Given the description of an element on the screen output the (x, y) to click on. 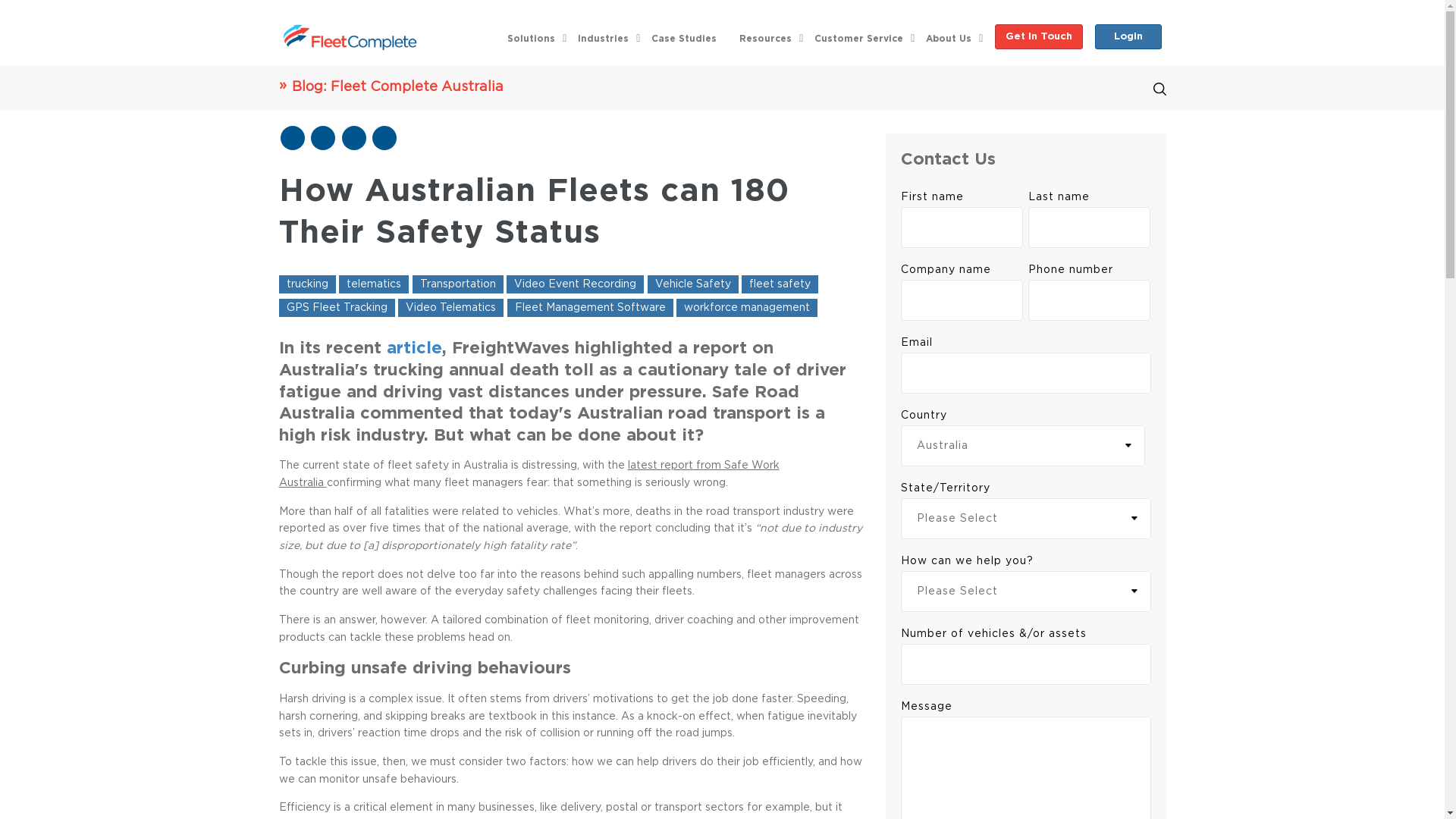
Case Studies Element type: text (684, 34)
article Element type: text (414, 347)
latest report from Safe Work Australia  Element type: text (529, 474)
Video Event Recording Element type: text (574, 284)
Video Telematics Element type: text (450, 307)
Customer Service Element type: text (858, 34)
fleet safety Element type: text (779, 284)
GPS Fleet Tracking Element type: text (337, 307)
workforce management Element type: text (746, 307)
Transportation Element type: text (457, 284)
Resources Element type: text (765, 34)
Solutions Element type: text (530, 34)
Industries Element type: text (603, 34)
trucking Element type: text (307, 284)
telematics Element type: text (373, 284)
Fleet Management Software Element type: text (589, 307)
FC-Logo-nogradients-no-tails-without-copyr-2 Element type: hover (350, 36)
Get In Touch Element type: text (1038, 36)
Australian road transport is a high risk industry Element type: text (552, 423)
Vehicle Safety Element type: text (692, 284)
About Us Element type: text (948, 34)
Login Element type: text (1128, 36)
Blog: Fleet Complete Australia Element type: text (495, 81)
